Given the description of an element on the screen output the (x, y) to click on. 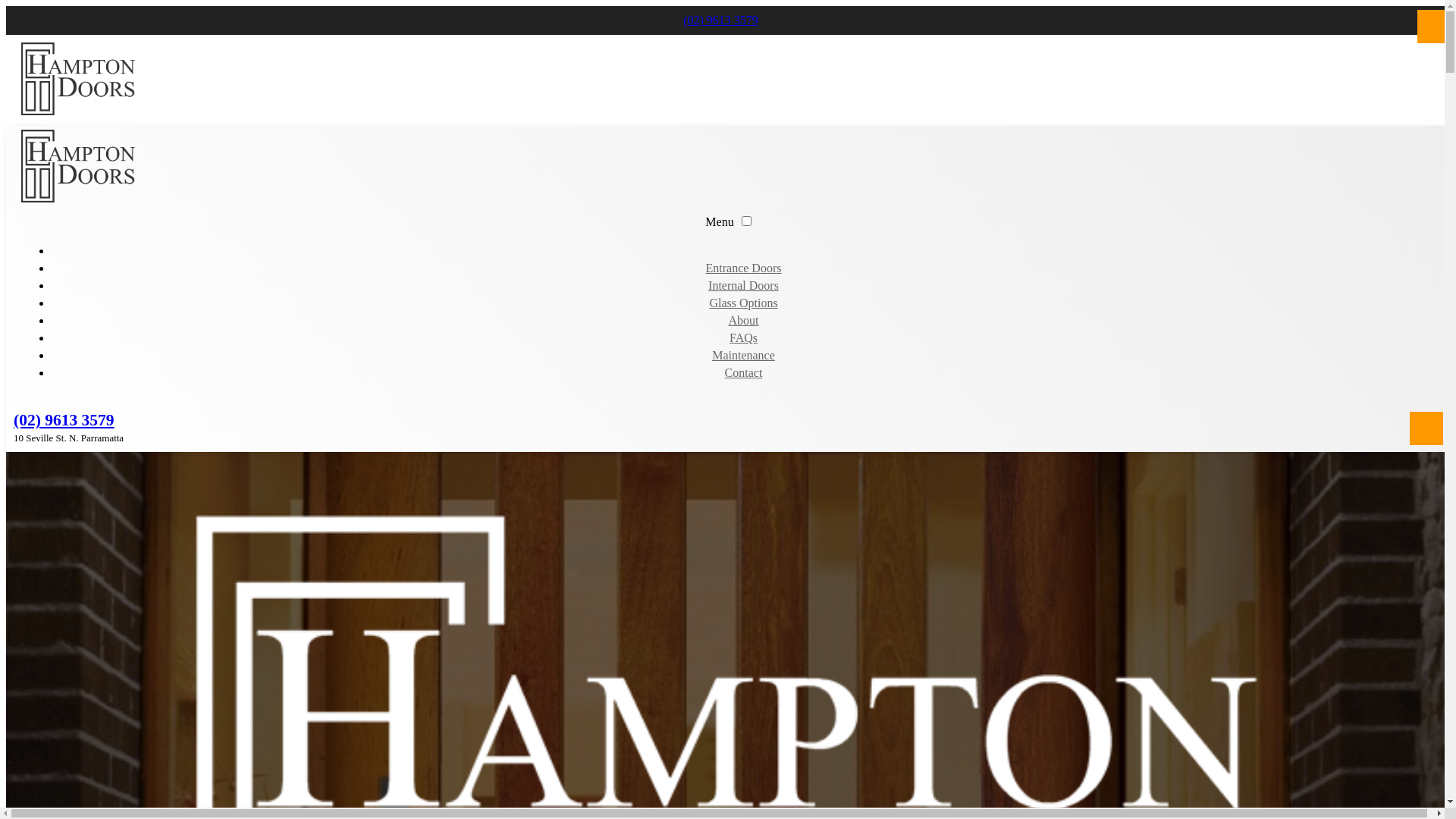
Glass Options Element type: text (743, 302)
Entrance Doors Element type: text (743, 267)
About Element type: text (743, 319)
Maintenance Element type: text (743, 354)
(02) 9613 3579 Element type: text (63, 420)
Contact Element type: text (743, 372)
FAQs Element type: text (743, 337)
Internal Doors Element type: text (743, 285)
Home Element type: hover (743, 250)
(02) 9613 3579 Element type: text (720, 19)
